Given the description of an element on the screen output the (x, y) to click on. 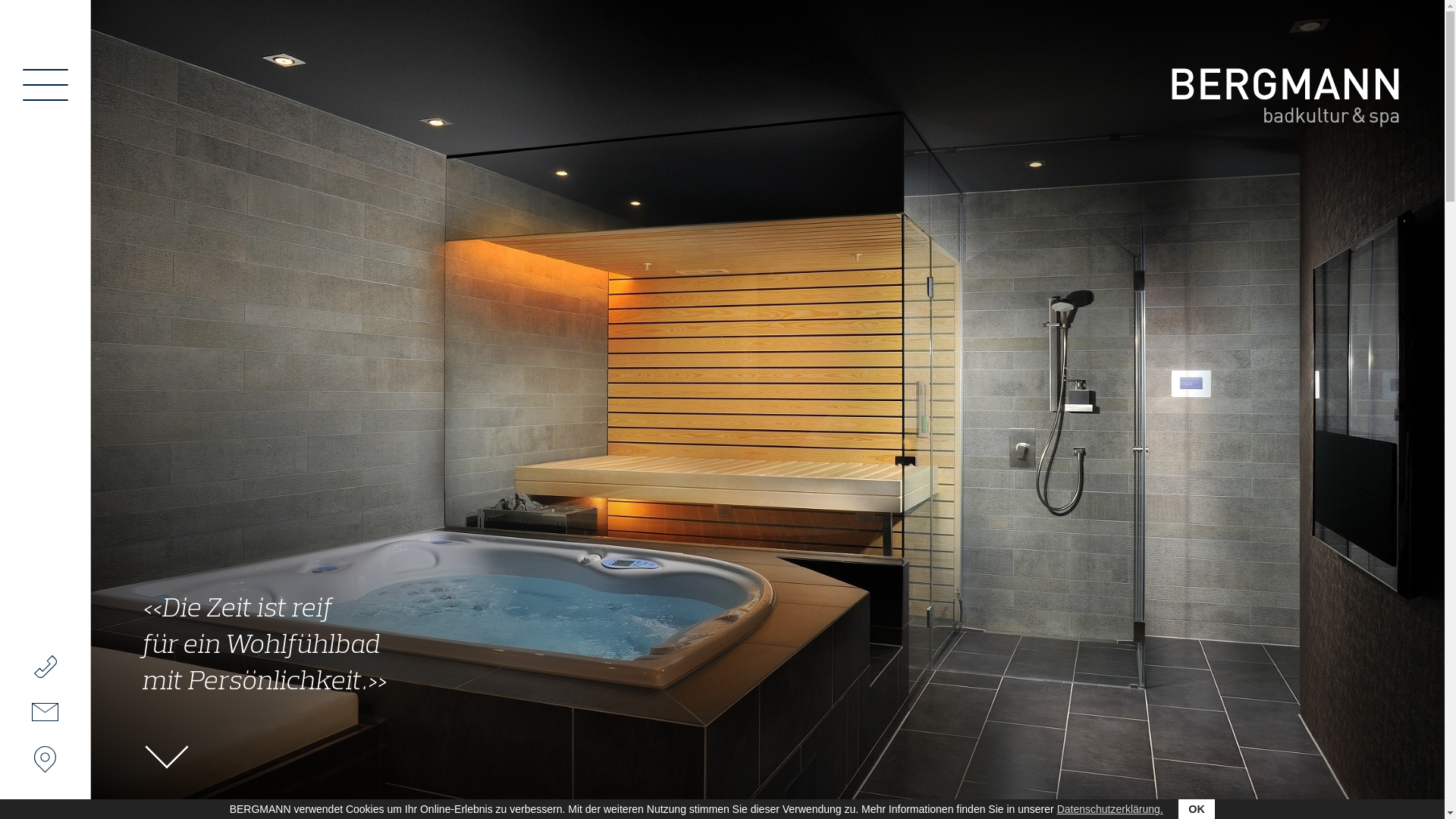
Eine E-Mail schreiben Element type: hover (44, 711)
